Given the description of an element on the screen output the (x, y) to click on. 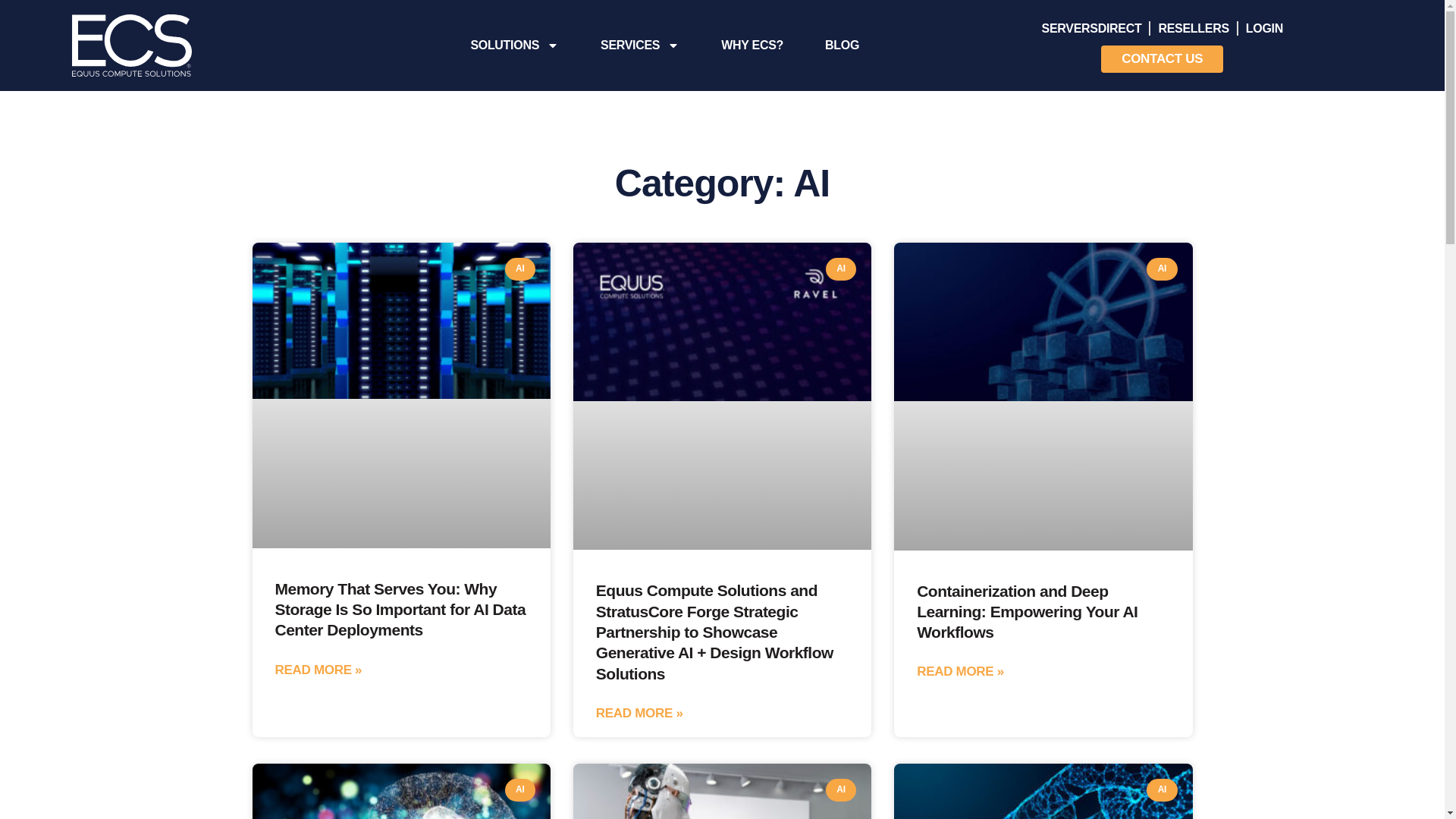
SERVICES (639, 45)
WHY ECS? (751, 45)
SOLUTIONS (513, 45)
ecs-white (131, 45)
BLOG (842, 45)
